Given the description of an element on the screen output the (x, y) to click on. 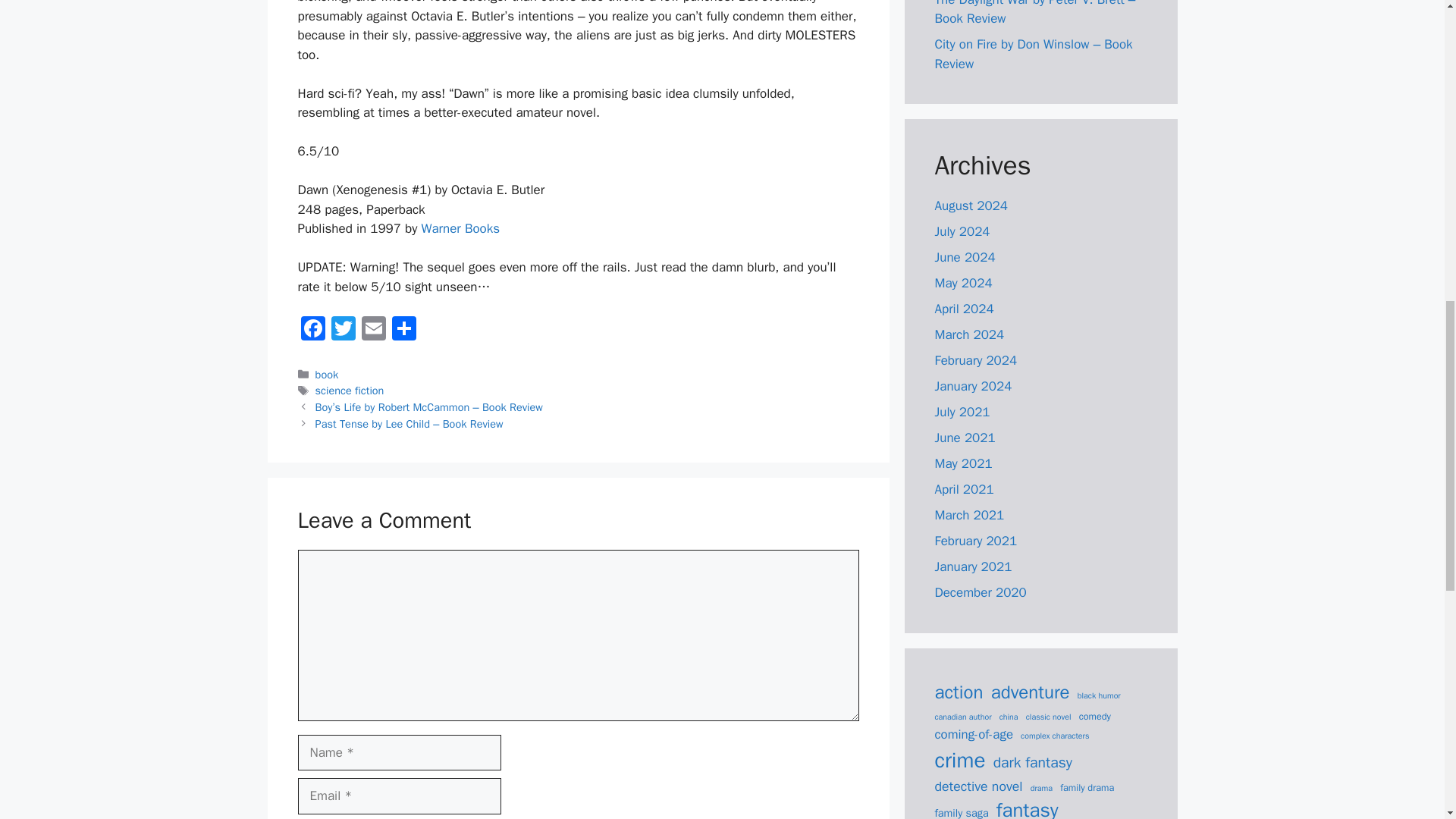
July 2021 (962, 412)
February 2024 (975, 360)
Facebook (312, 330)
March 2024 (969, 334)
Twitter (342, 330)
June 2021 (964, 437)
Warner Books (461, 228)
August 2024 (970, 205)
May 2024 (962, 283)
April 2024 (963, 308)
